Given the description of an element on the screen output the (x, y) to click on. 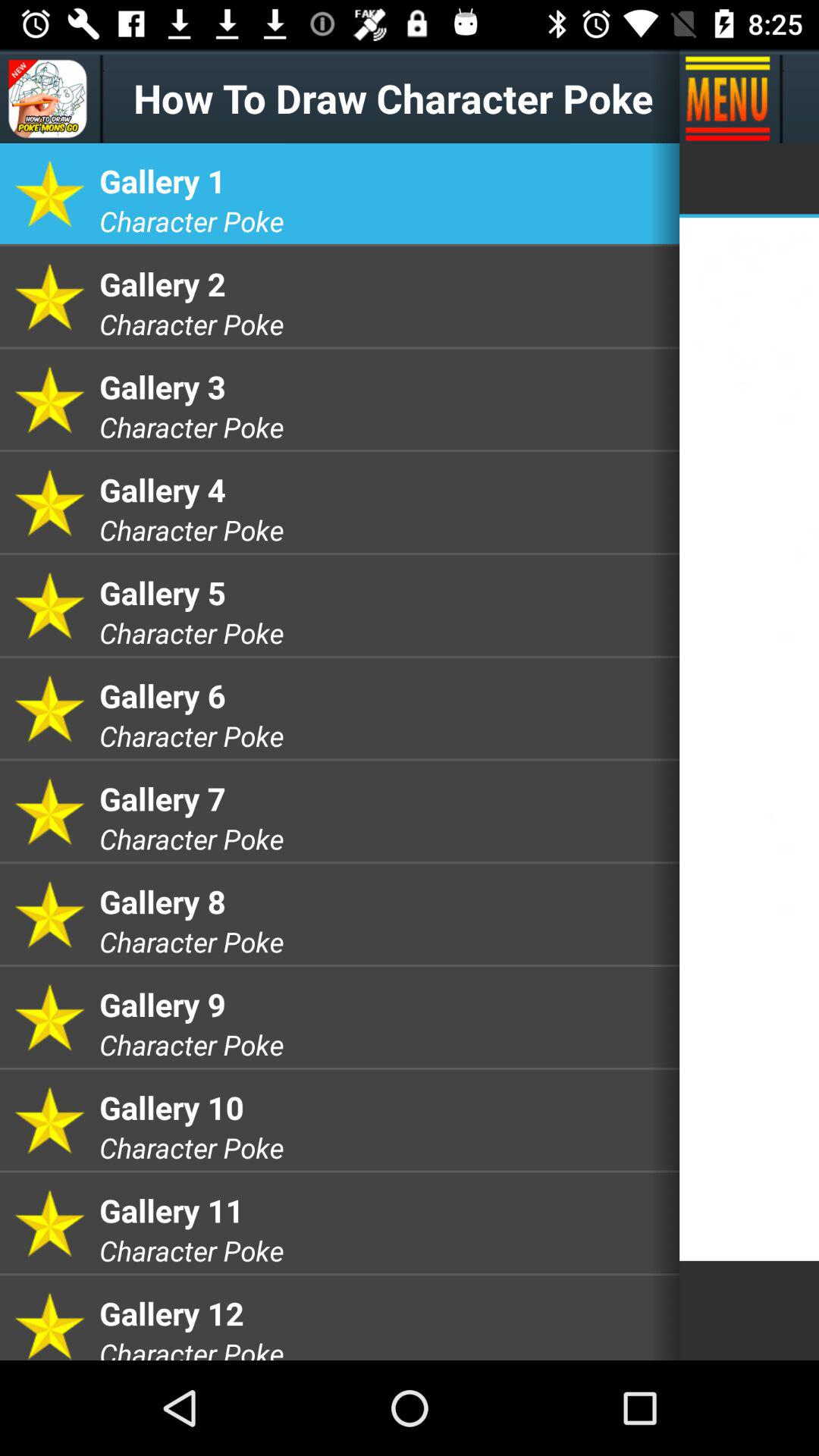
turn off the item on the right (749, 738)
